Given the description of an element on the screen output the (x, y) to click on. 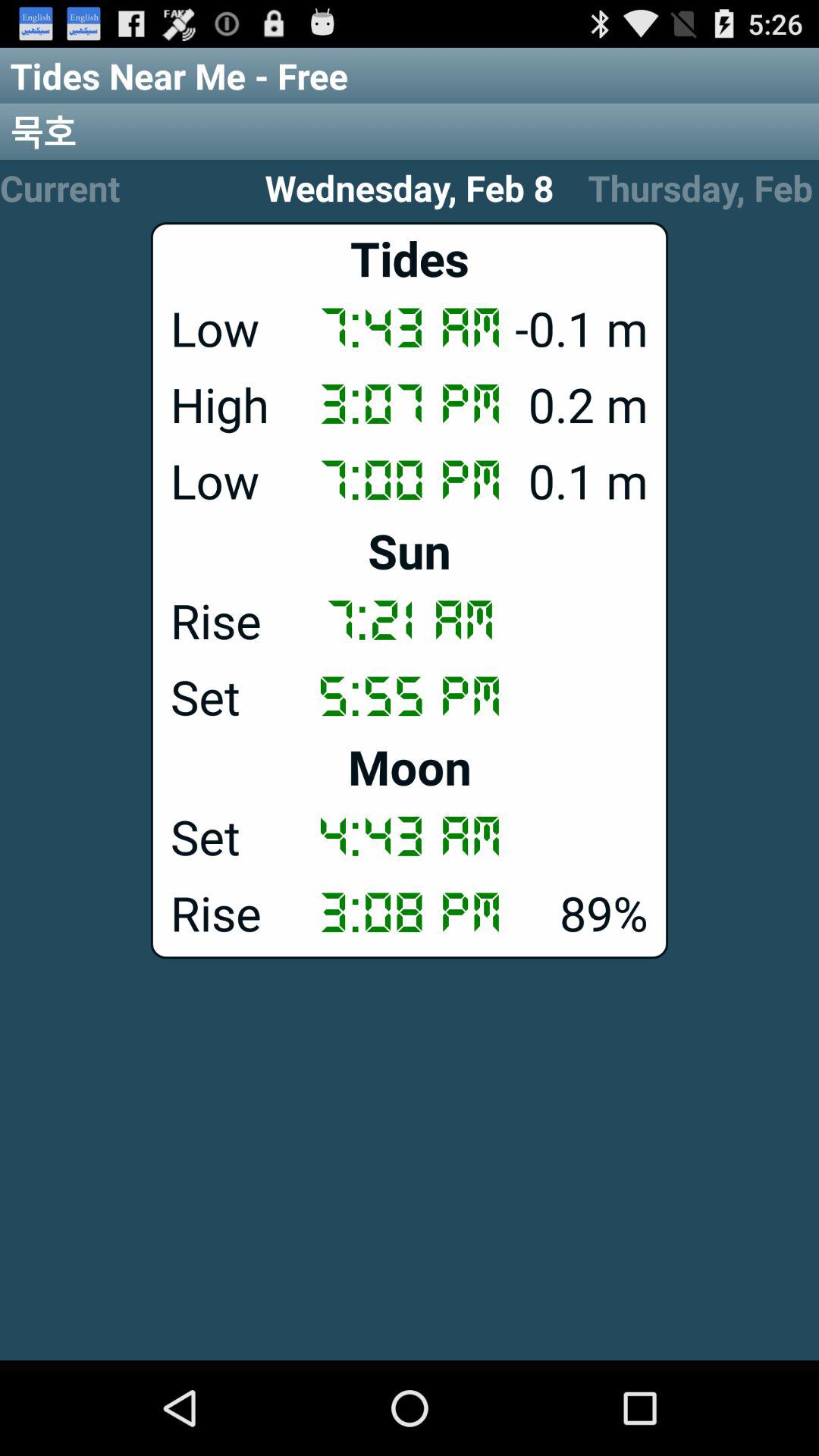
open the moon icon (409, 766)
